Given the description of an element on the screen output the (x, y) to click on. 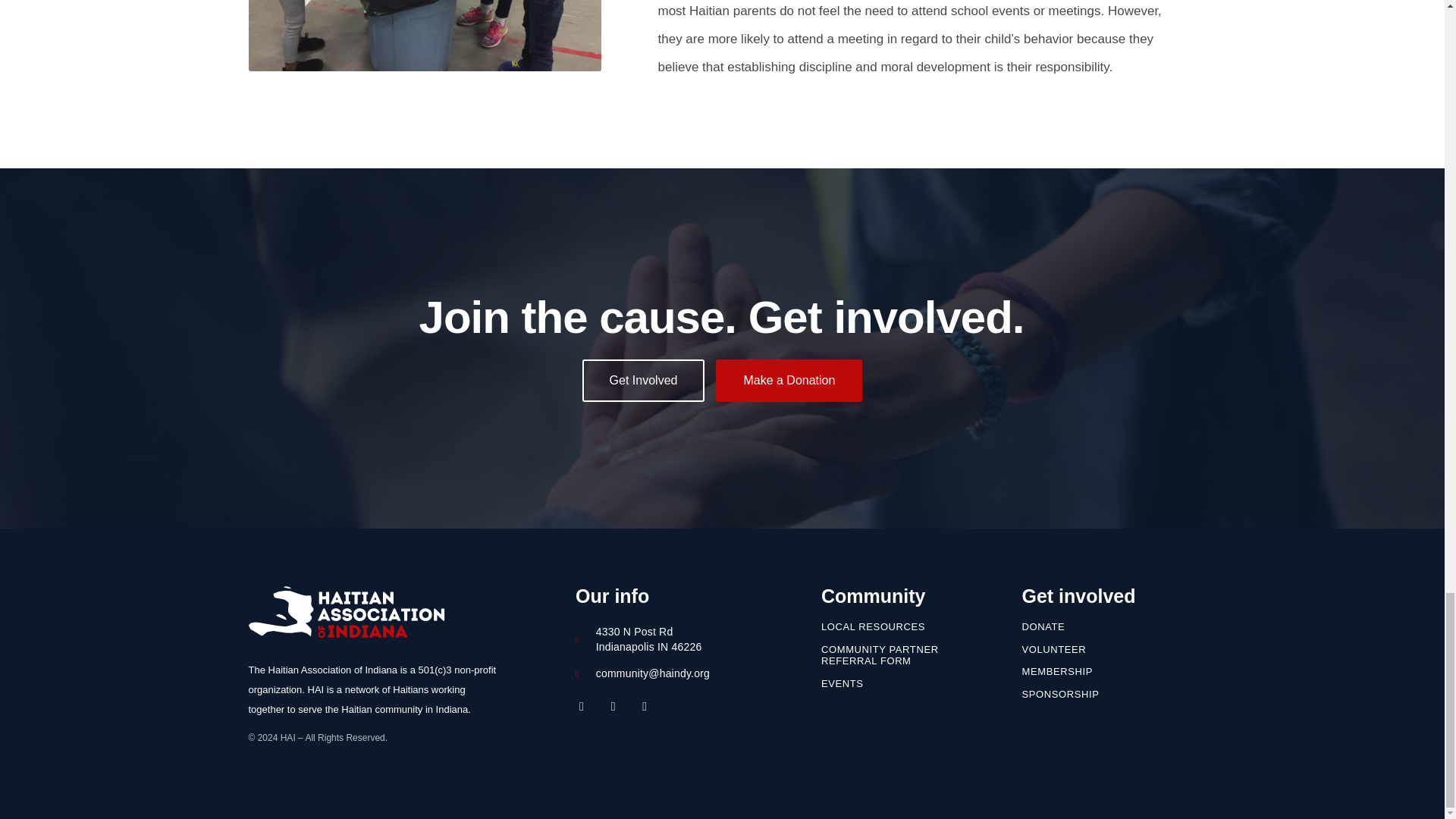
Make a Donation (788, 380)
Get Involved (643, 380)
